Given the description of an element on the screen output the (x, y) to click on. 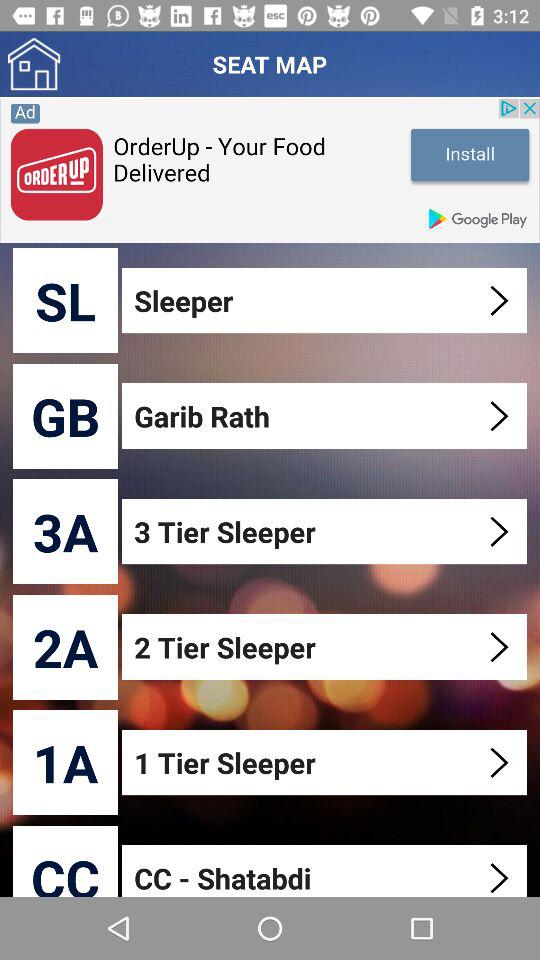
launch icon below sl (65, 415)
